Given the description of an element on the screen output the (x, y) to click on. 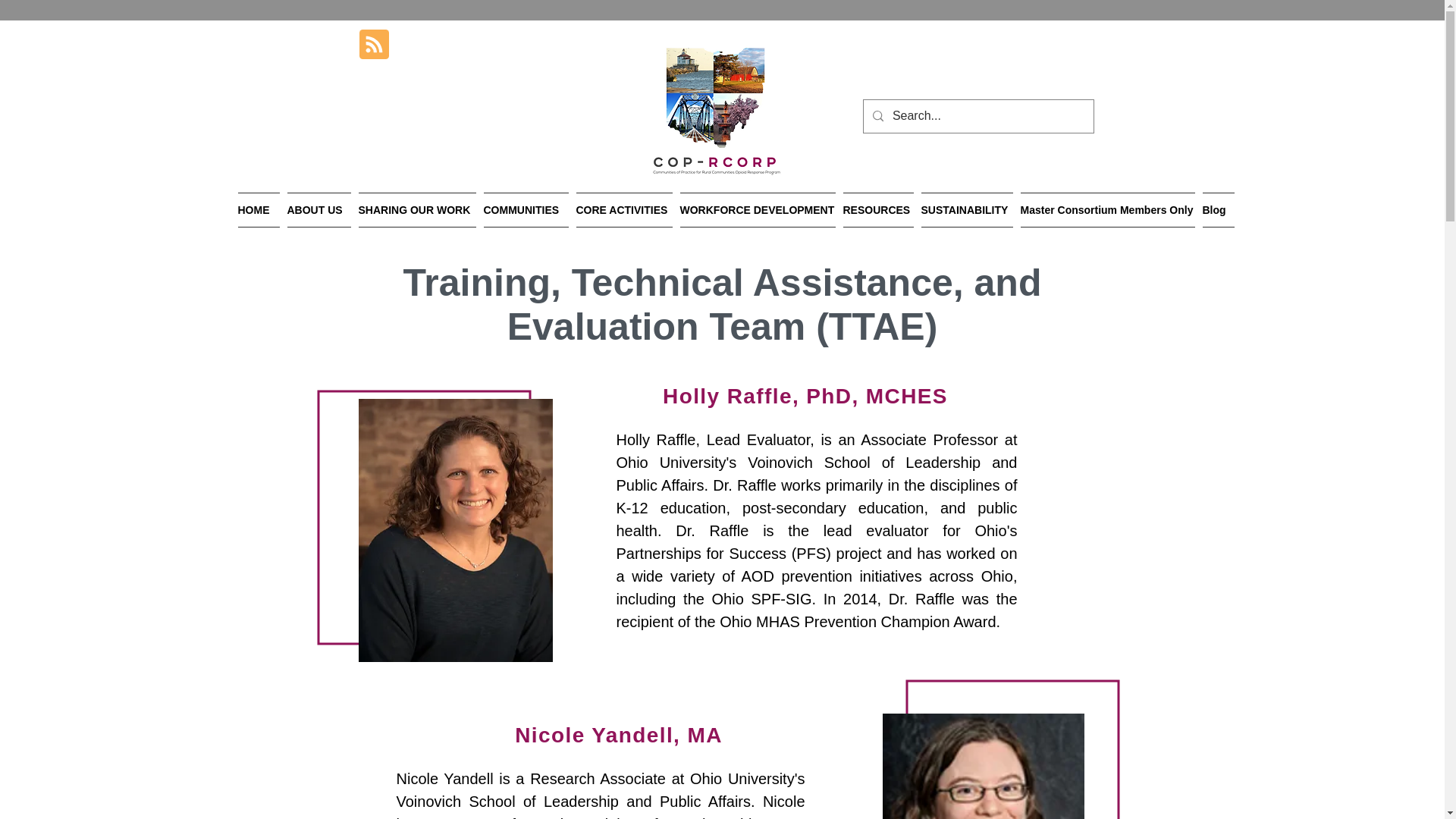
RESOURCES (877, 209)
Site Search (1055, 55)
HOME (260, 209)
Master Consortium Members Only (1107, 209)
WORKFORCE DEVELOPMENT (758, 209)
COMMUNITIES (525, 209)
CORE ACTIVITIES (623, 209)
